Given the description of an element on the screen output the (x, y) to click on. 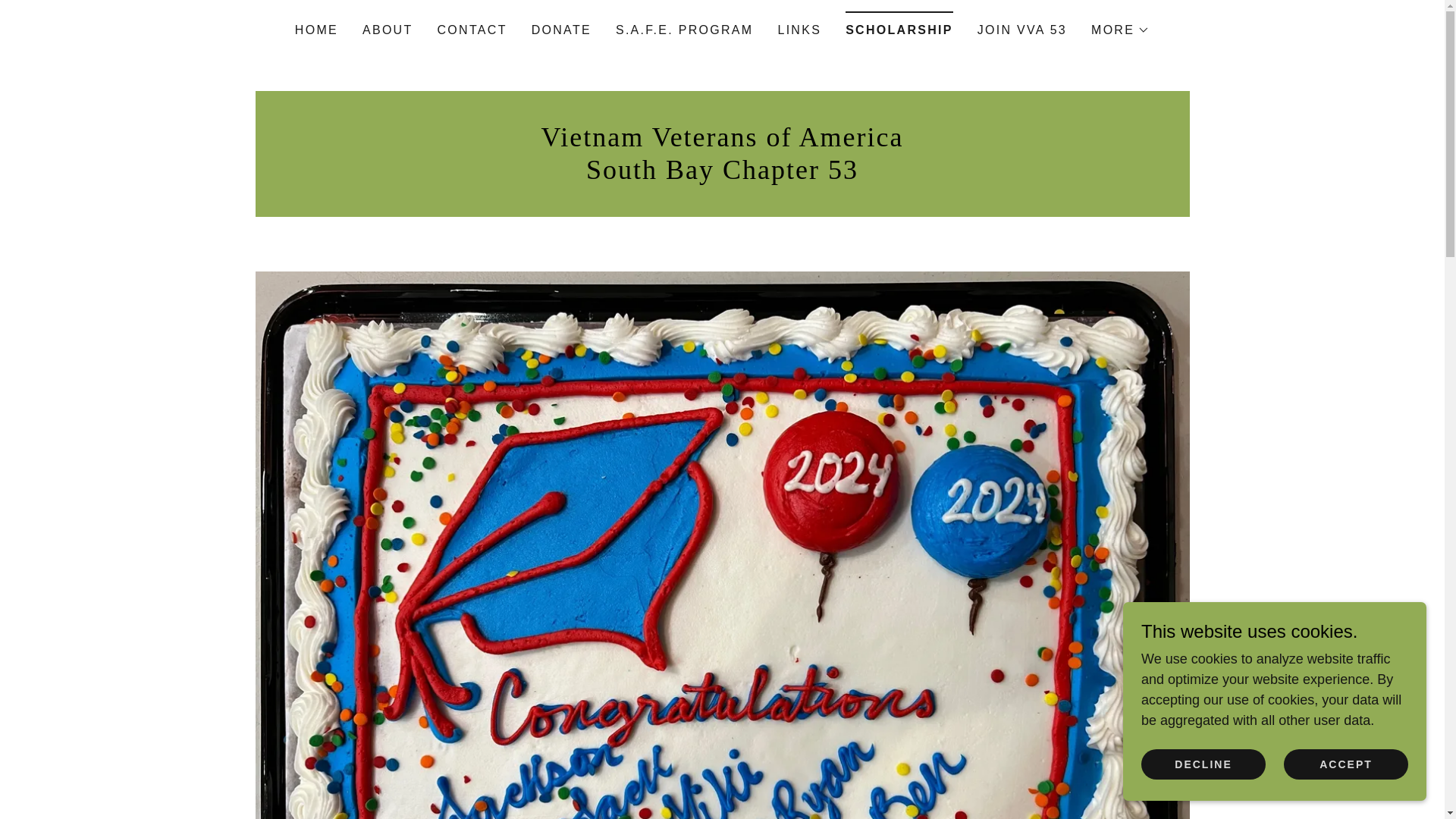
ABOUT (387, 30)
LINKS (799, 30)
JOIN VVA 53 (1021, 30)
HOME (315, 30)
DONATE (561, 30)
MORE (1120, 30)
CONTACT (472, 30)
SCHOLARSHIP (899, 25)
S.A.F.E. PROGRAM (684, 30)
